Given the description of an element on the screen output the (x, y) to click on. 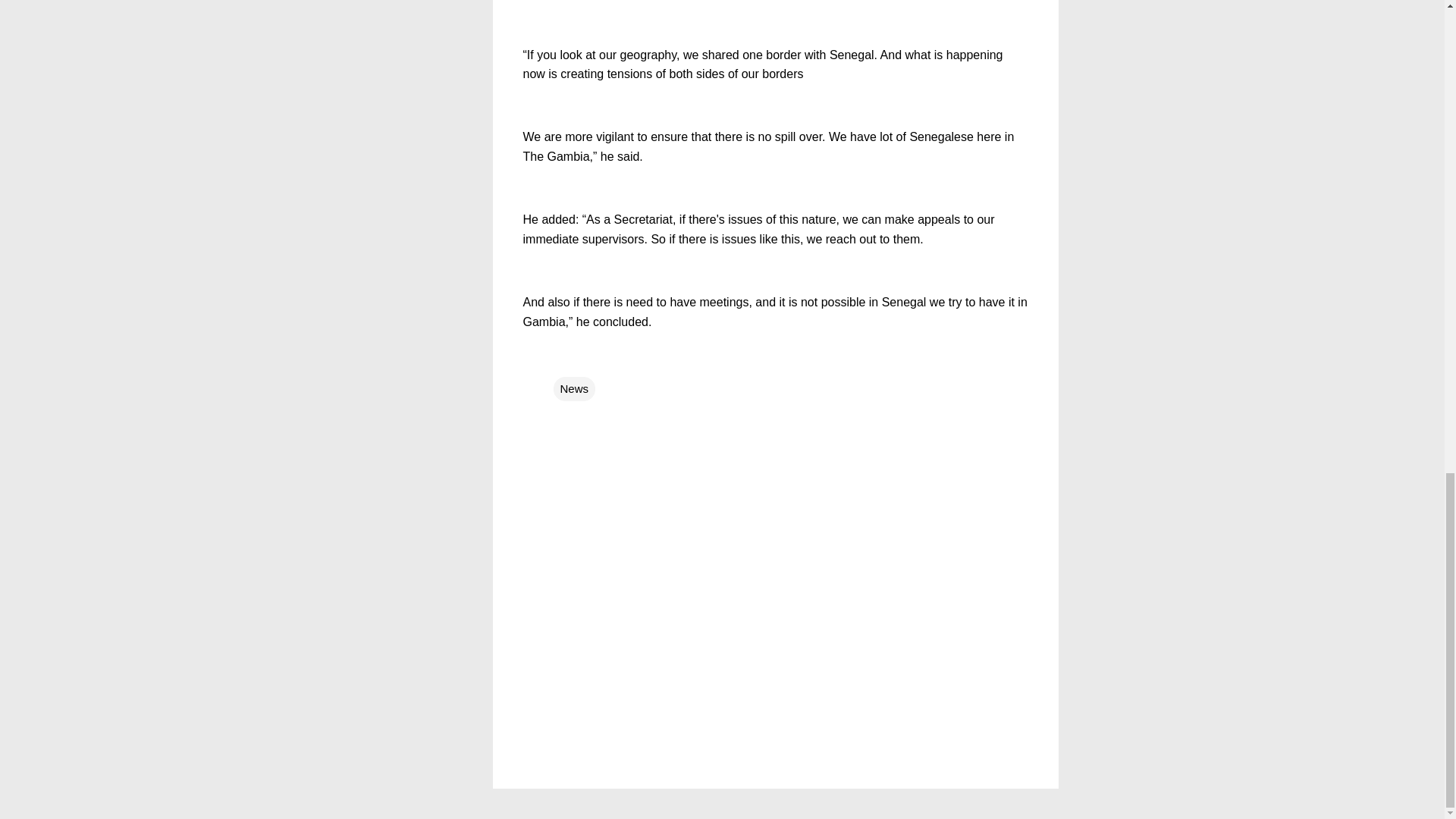
News (574, 388)
